Given the description of an element on the screen output the (x, y) to click on. 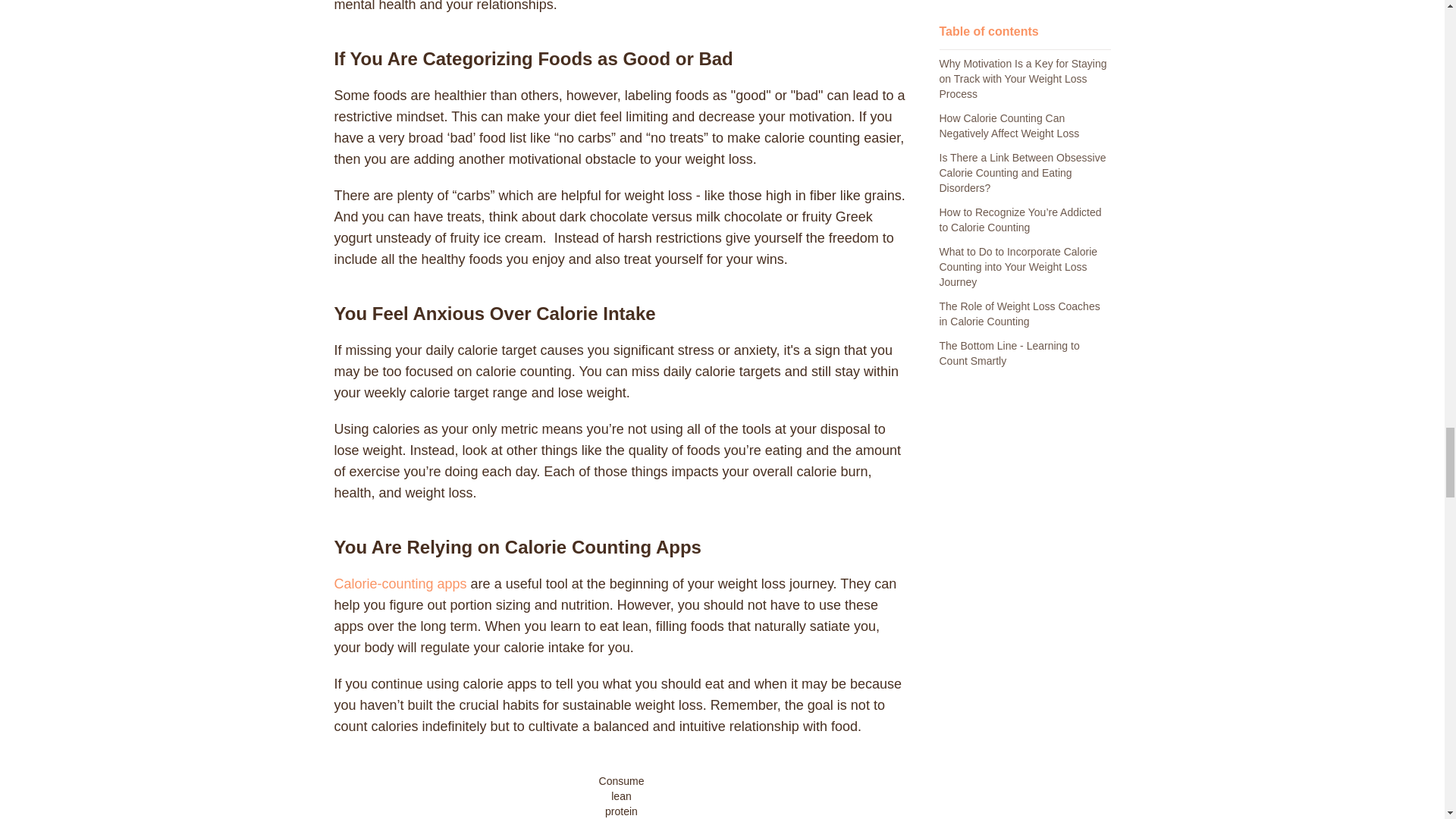
Calorie-counting apps (399, 583)
